Given the description of an element on the screen output the (x, y) to click on. 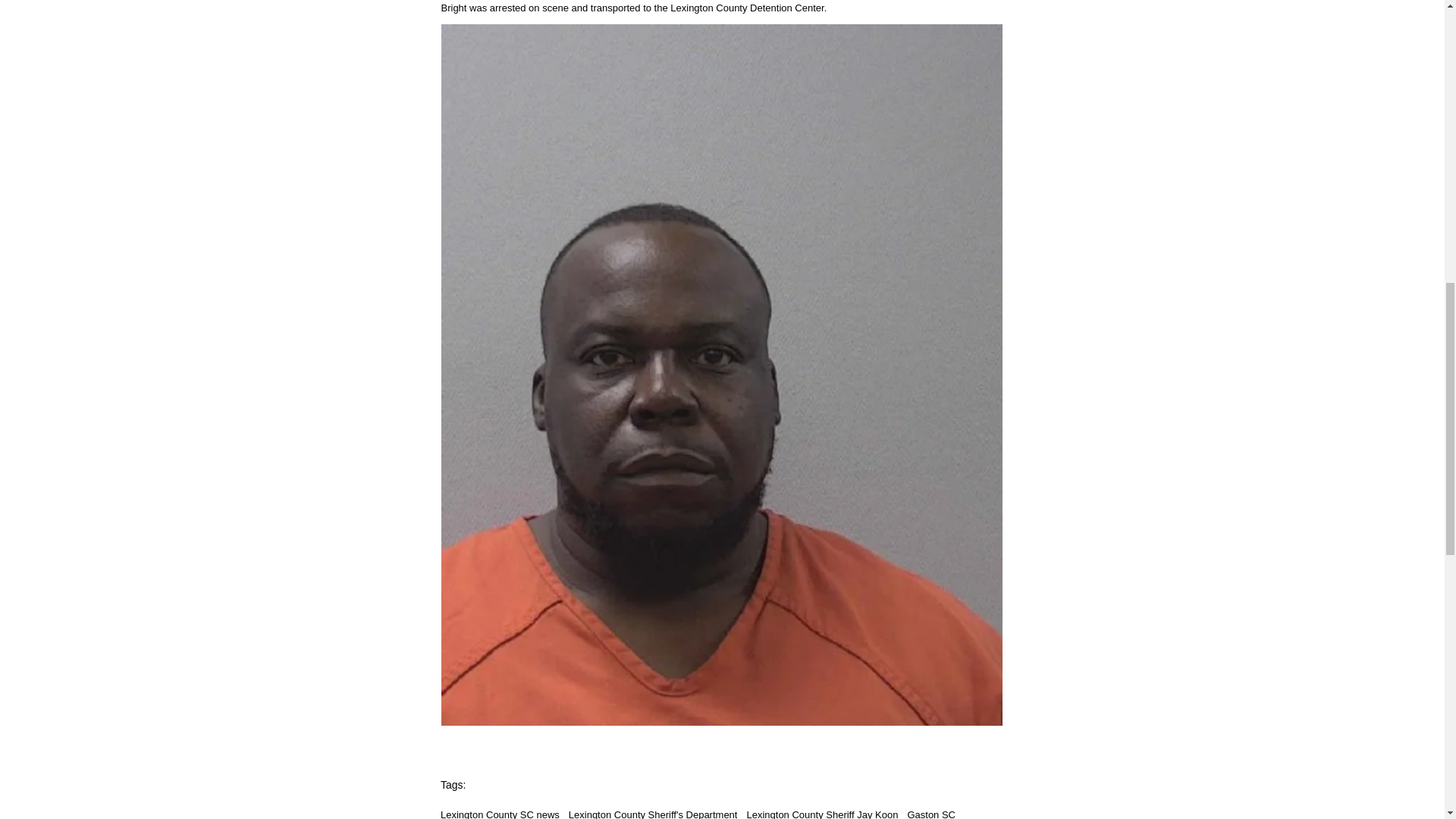
Lexington County Sheriff Jay Koon (821, 814)
Lexington County Sheriff's Department (653, 814)
Lexington County SC news (500, 814)
Gaston SC (931, 814)
